Given the description of an element on the screen output the (x, y) to click on. 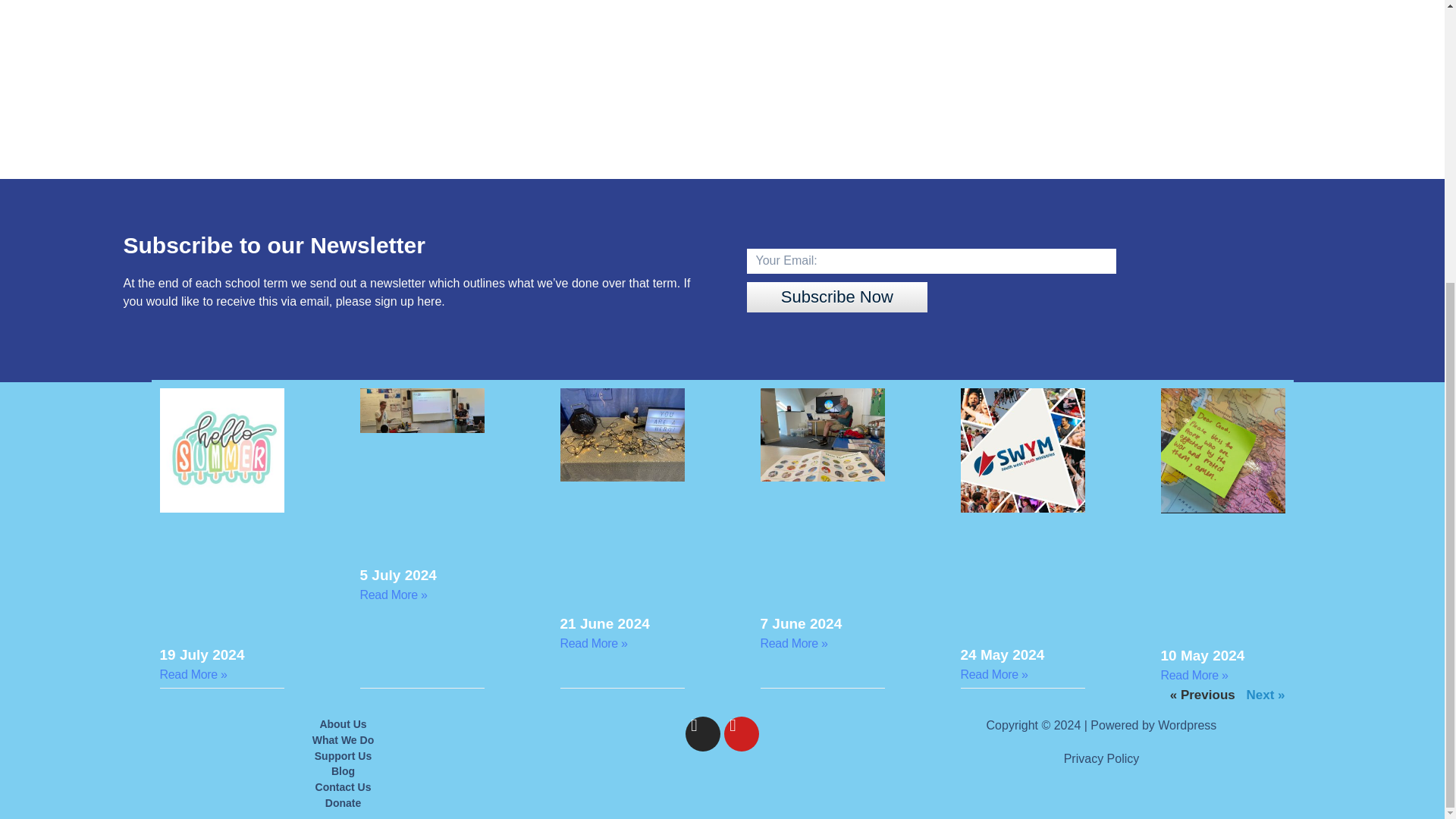
What We Do (342, 740)
PACE Summer 2018 Puppets (721, 55)
Donate (342, 803)
Blog (342, 771)
Support Us (342, 756)
About Us (342, 724)
Contact Us (342, 787)
Privacy Policy (1102, 758)
Subscribe Now (836, 296)
